Given the description of an element on the screen output the (x, y) to click on. 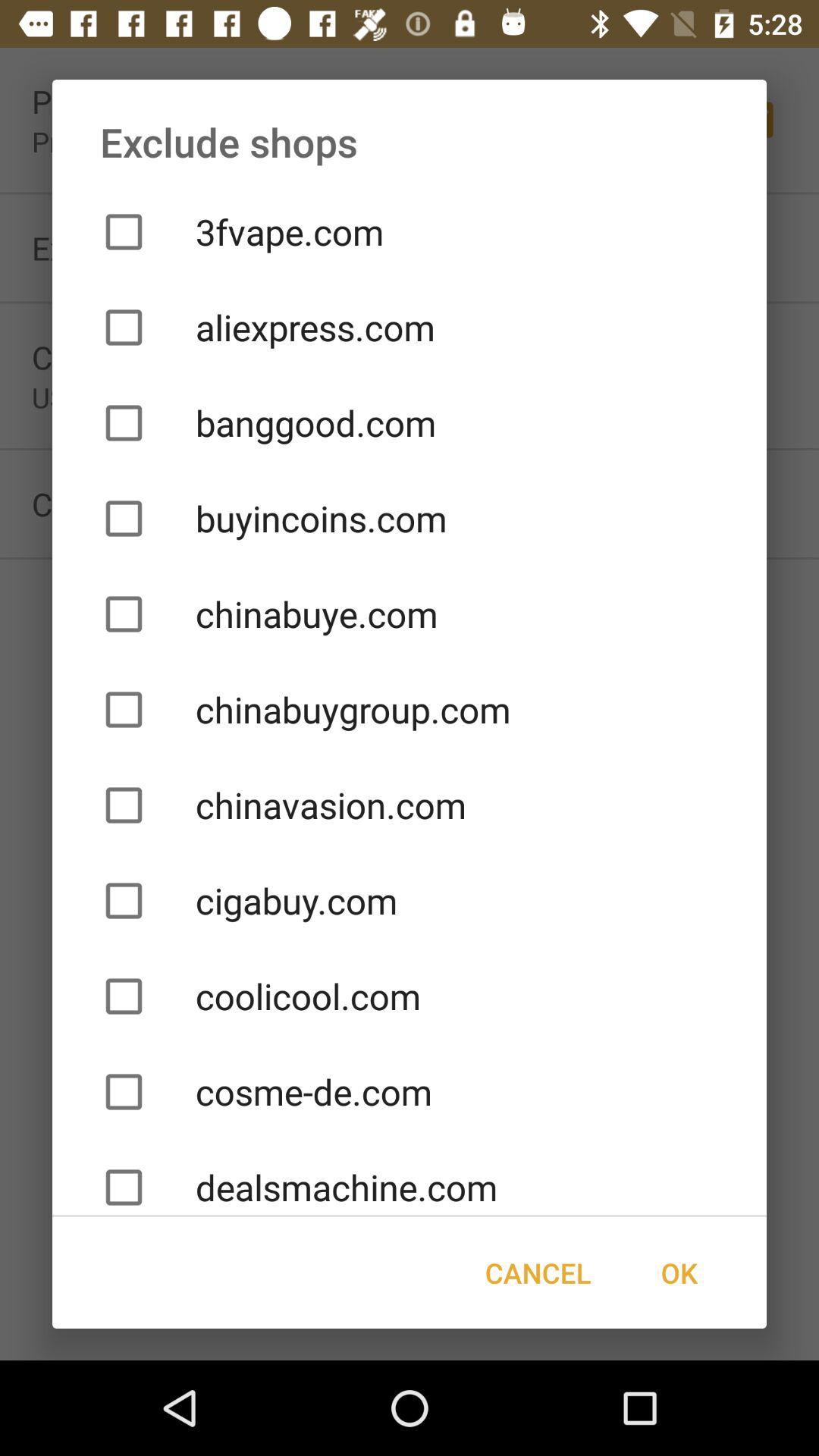
open icon next to ok (538, 1272)
